Given the description of an element on the screen output the (x, y) to click on. 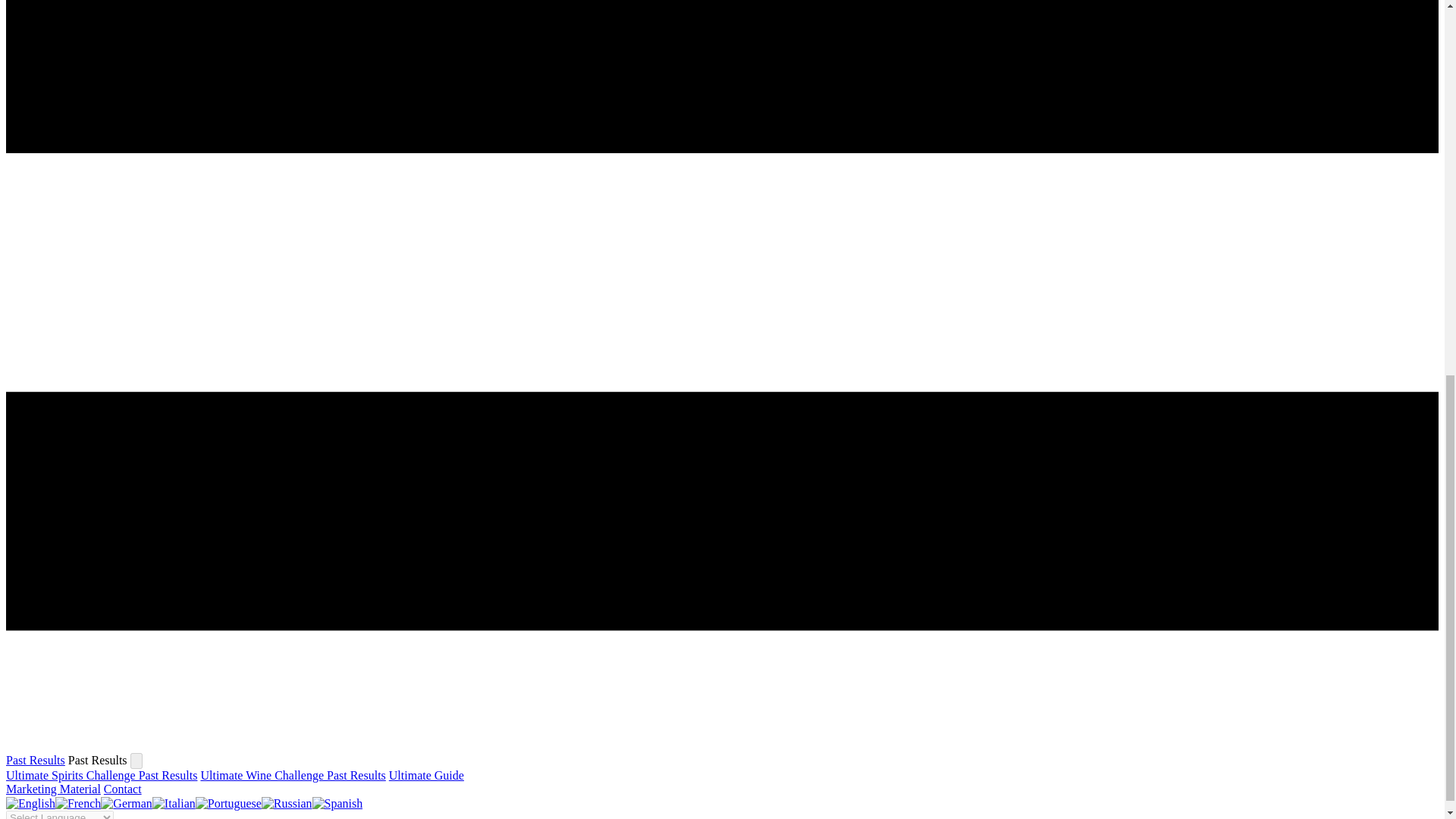
Marketing Material (52, 788)
Russian (287, 803)
English (30, 803)
Contact (122, 788)
French (77, 803)
German (126, 803)
Ultimate Guide (426, 775)
Portuguese (228, 803)
Past Results (35, 759)
Ultimate Wine Challenge Past Results (292, 775)
